Given the description of an element on the screen output the (x, y) to click on. 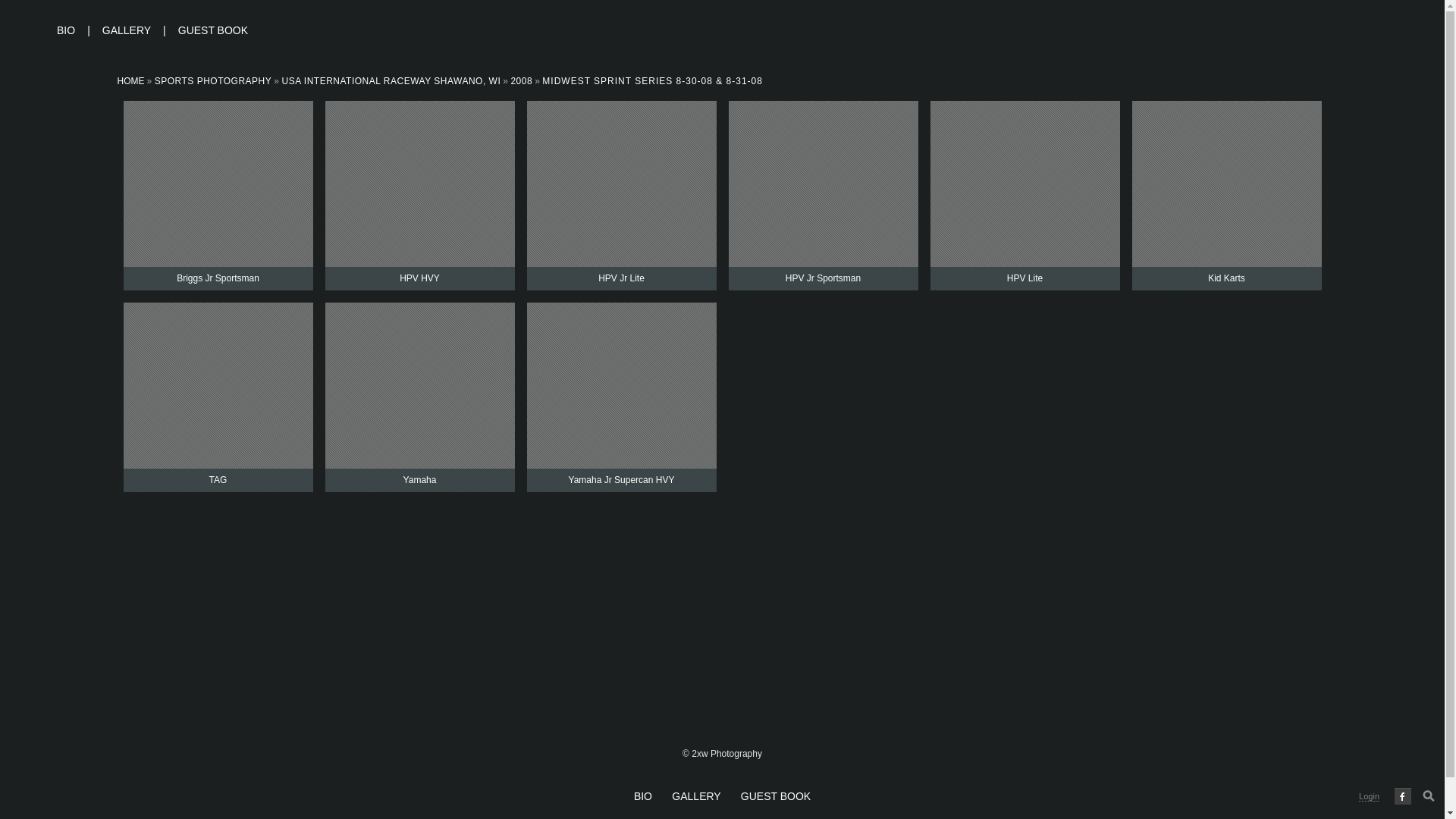
HPV Jr Sportsman Element type: text (822, 195)
HPV HVY Element type: text (419, 195)
USA INTERNATIONAL RACEWAY SHAWANO, WI Element type: text (390, 80)
HPV Jr Lite Element type: text (620, 195)
BIO Element type: text (65, 29)
SPORTS PHOTOGRAPHY Element type: text (213, 80)
Login Element type: text (1368, 796)
GALLERY Element type: text (697, 796)
2008 Element type: text (521, 80)
HPV Lite Element type: text (1024, 195)
2xw Photography Element type: hover (23, 30)
GALLERY Element type: text (126, 29)
BIO Element type: text (644, 796)
HOME Element type: text (130, 80)
Yamaha Element type: text (419, 397)
Kid Karts Element type: text (1226, 195)
Briggs Jr Sportsman Element type: text (217, 195)
GUEST BOOK Element type: text (775, 796)
TAG Element type: text (217, 397)
GUEST BOOK Element type: text (213, 29)
Yamaha Jr Supercan HVY Element type: text (620, 397)
